Given the description of an element on the screen output the (x, y) to click on. 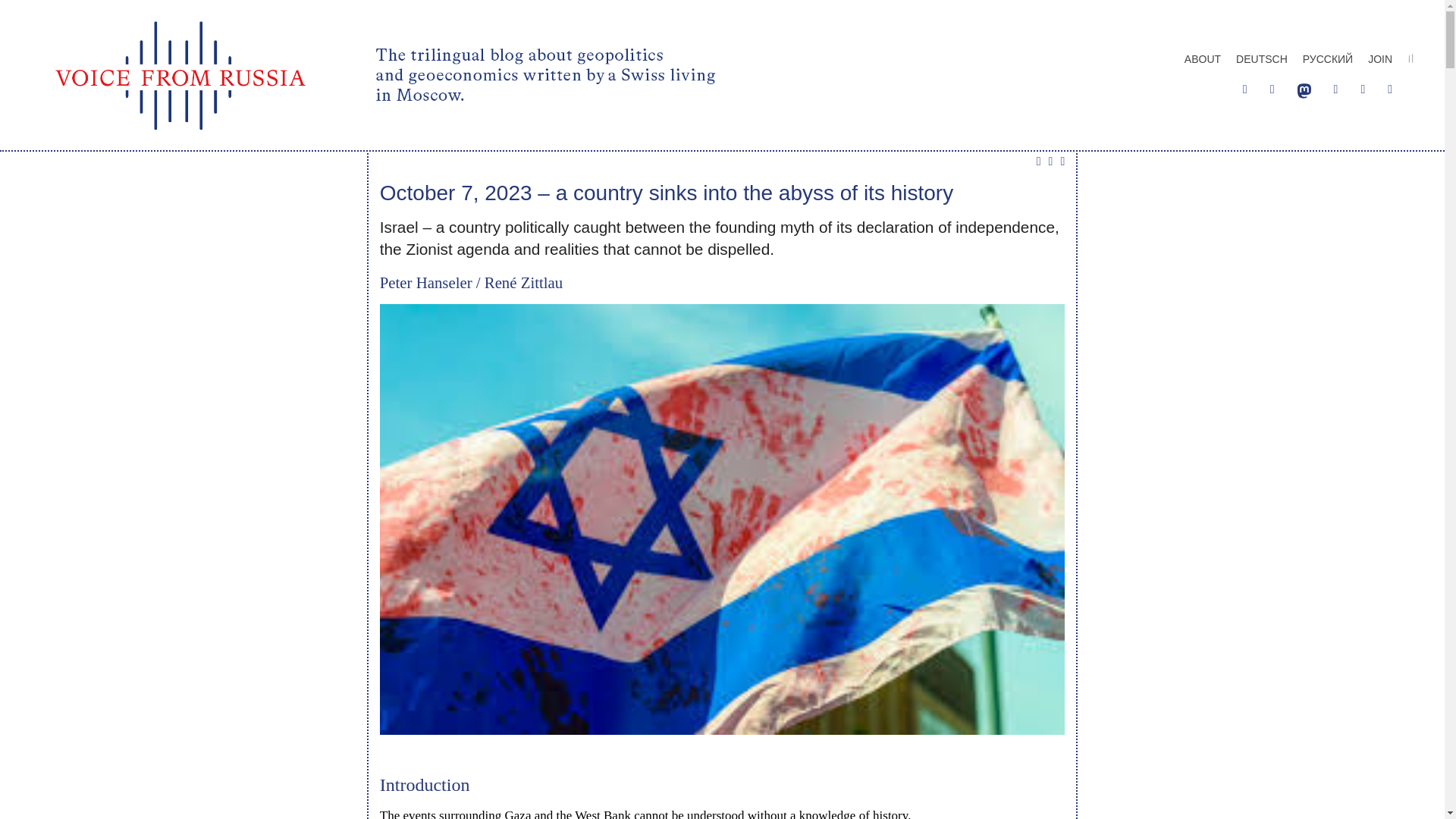
JOIN (1379, 58)
DEUTSCH (1261, 58)
ABOUT (1203, 58)
